Given the description of an element on the screen output the (x, y) to click on. 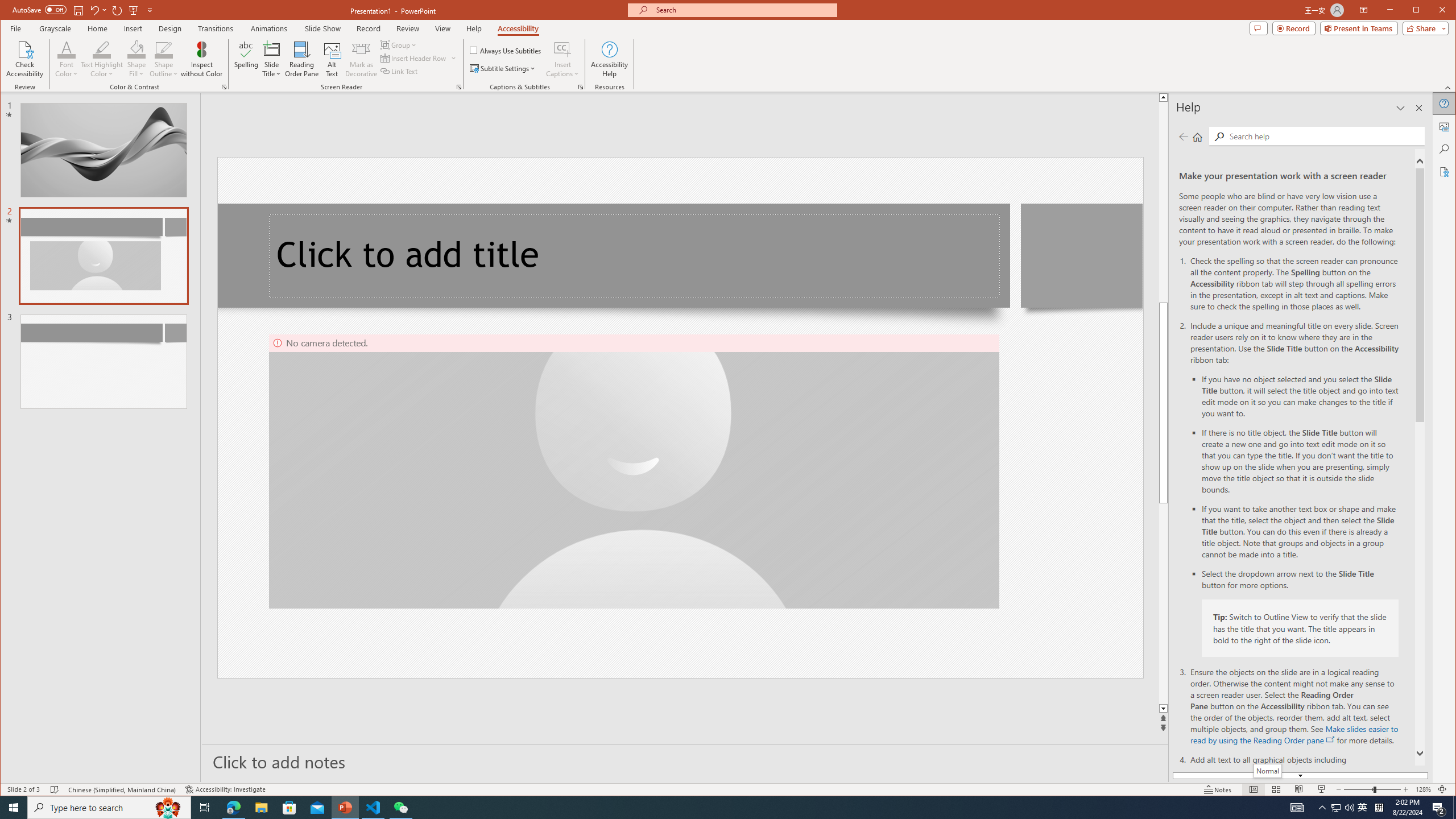
Review (407, 28)
Always Use Subtitles (505, 49)
Insert Header Row (413, 57)
Share (1422, 27)
Class: MsoCommandBar (728, 789)
Text Highlight Color (102, 48)
